Given the description of an element on the screen output the (x, y) to click on. 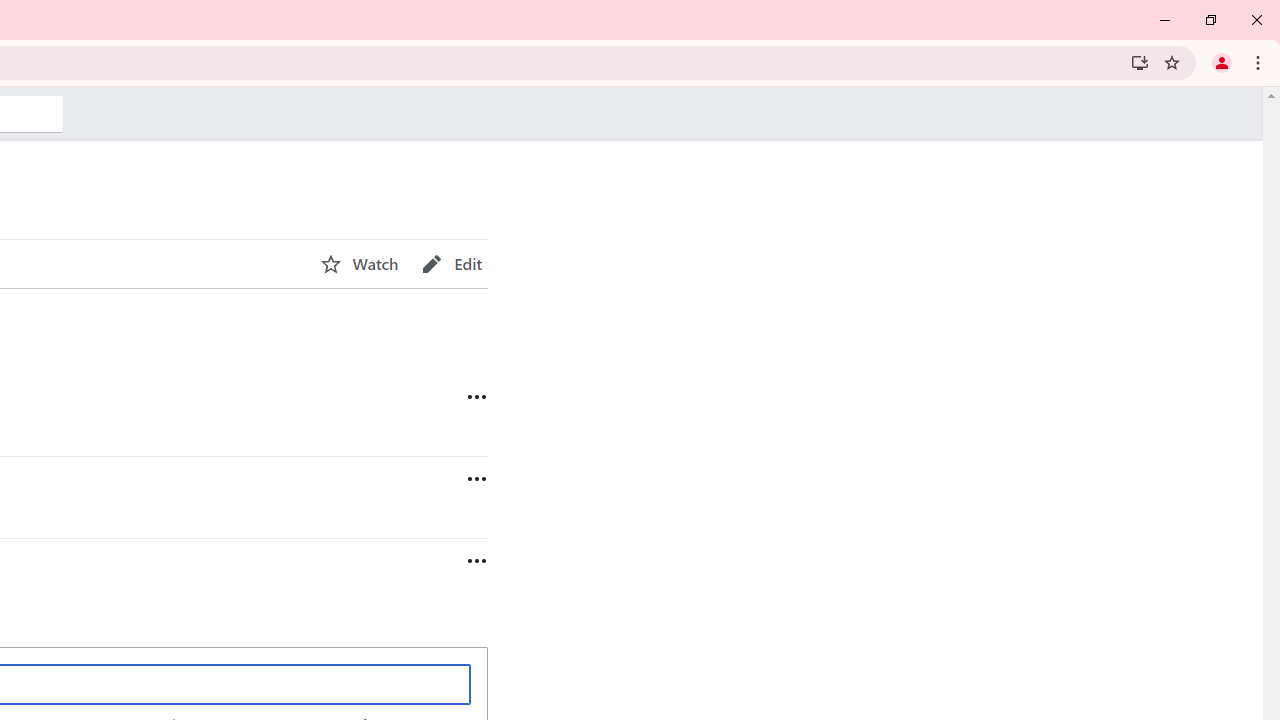
Edit (452, 264)
Install Wikipedia (1139, 62)
AutomationID: page-actions-edit (452, 263)
AutomationID: page-actions-watch (359, 263)
Watch (359, 264)
